Given the description of an element on the screen output the (x, y) to click on. 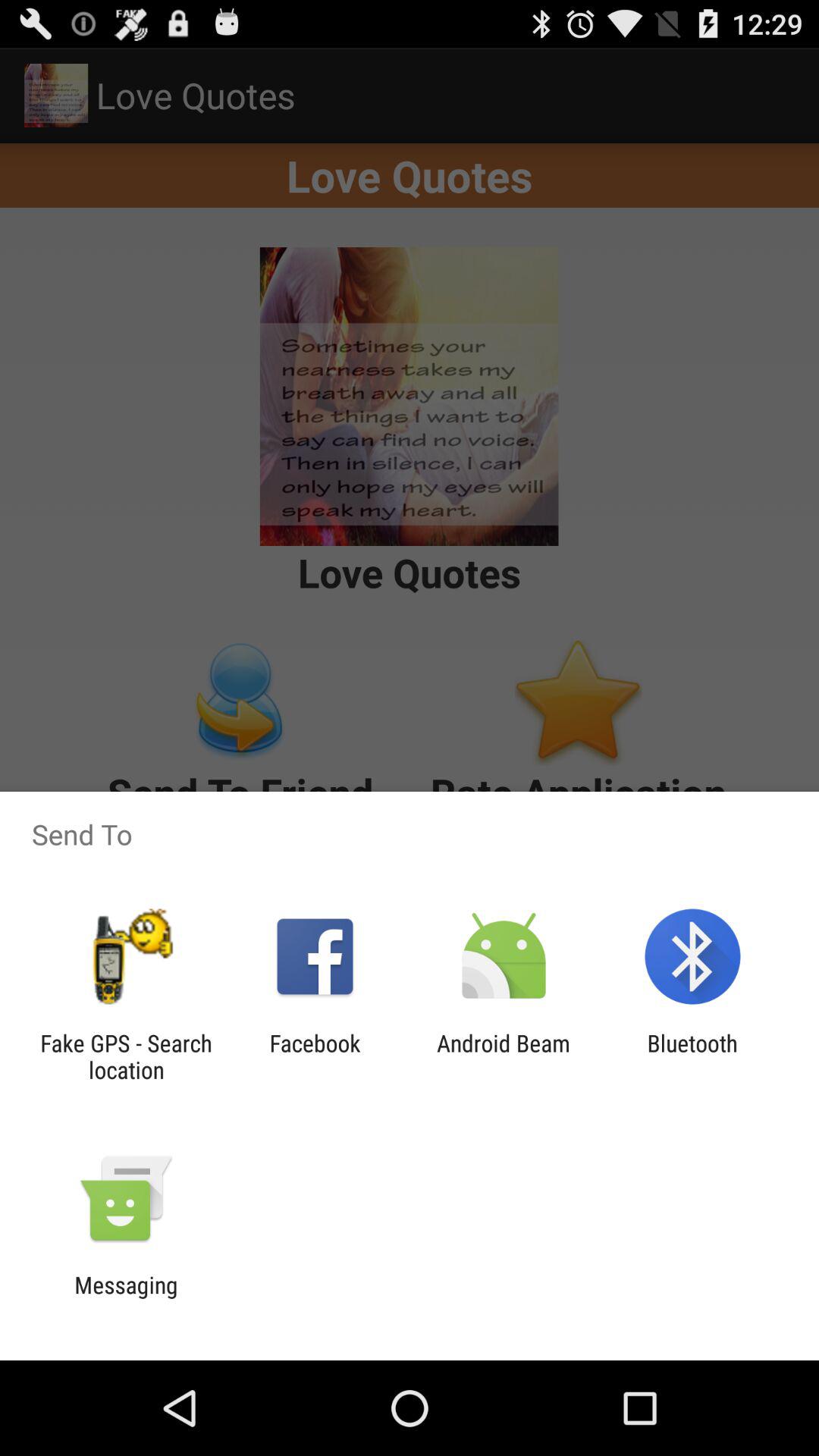
jump until fake gps search item (125, 1056)
